Given the description of an element on the screen output the (x, y) to click on. 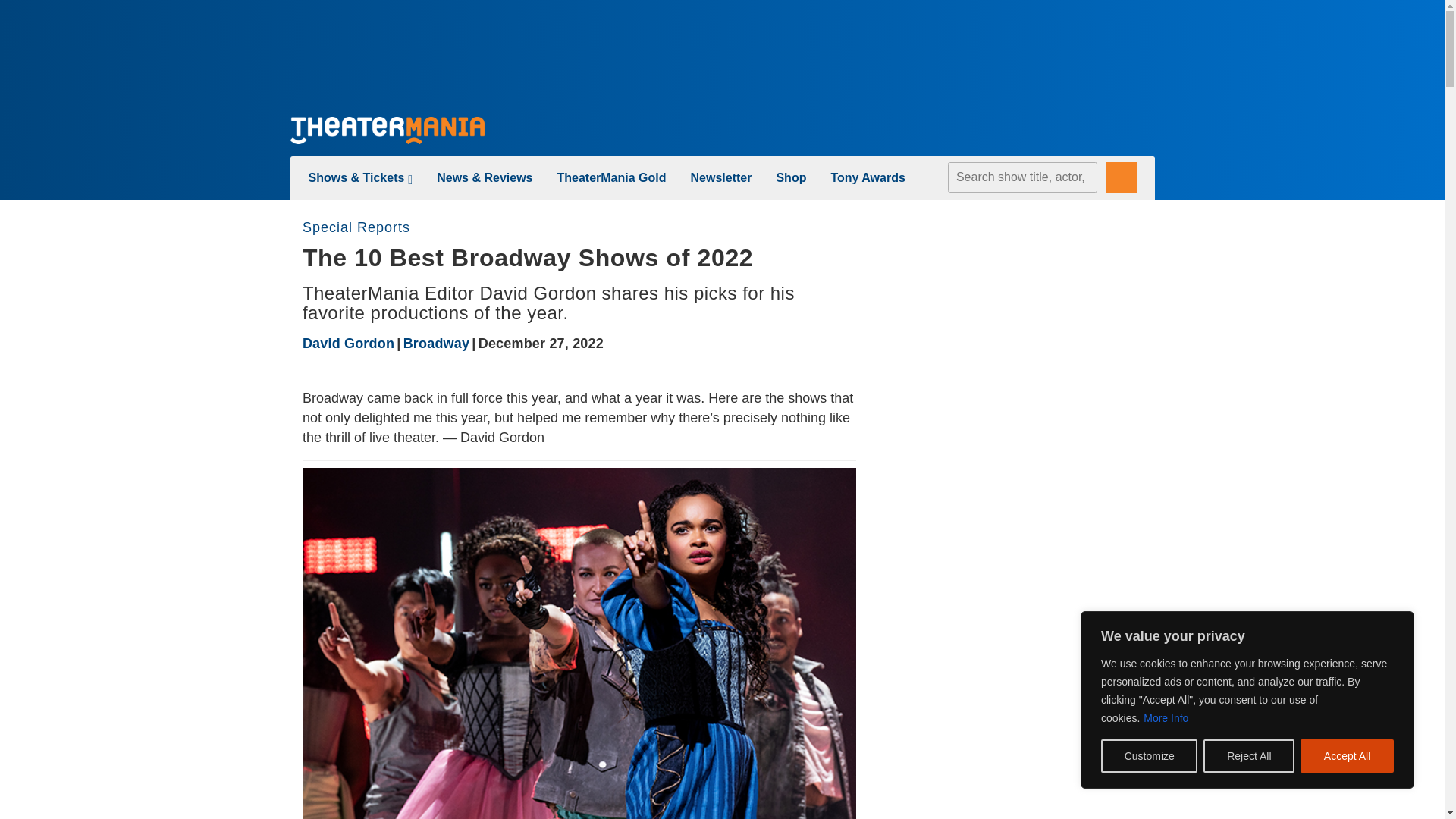
TheaterMania Gold (610, 177)
3rd party ad content (721, 52)
Accept All (1346, 756)
Reject All (1249, 756)
More Info (1165, 717)
Shop (791, 177)
Customize (1148, 756)
Tony Awards (866, 177)
Newsletter (721, 177)
new-and-reviews-link (484, 177)
